Given the description of an element on the screen output the (x, y) to click on. 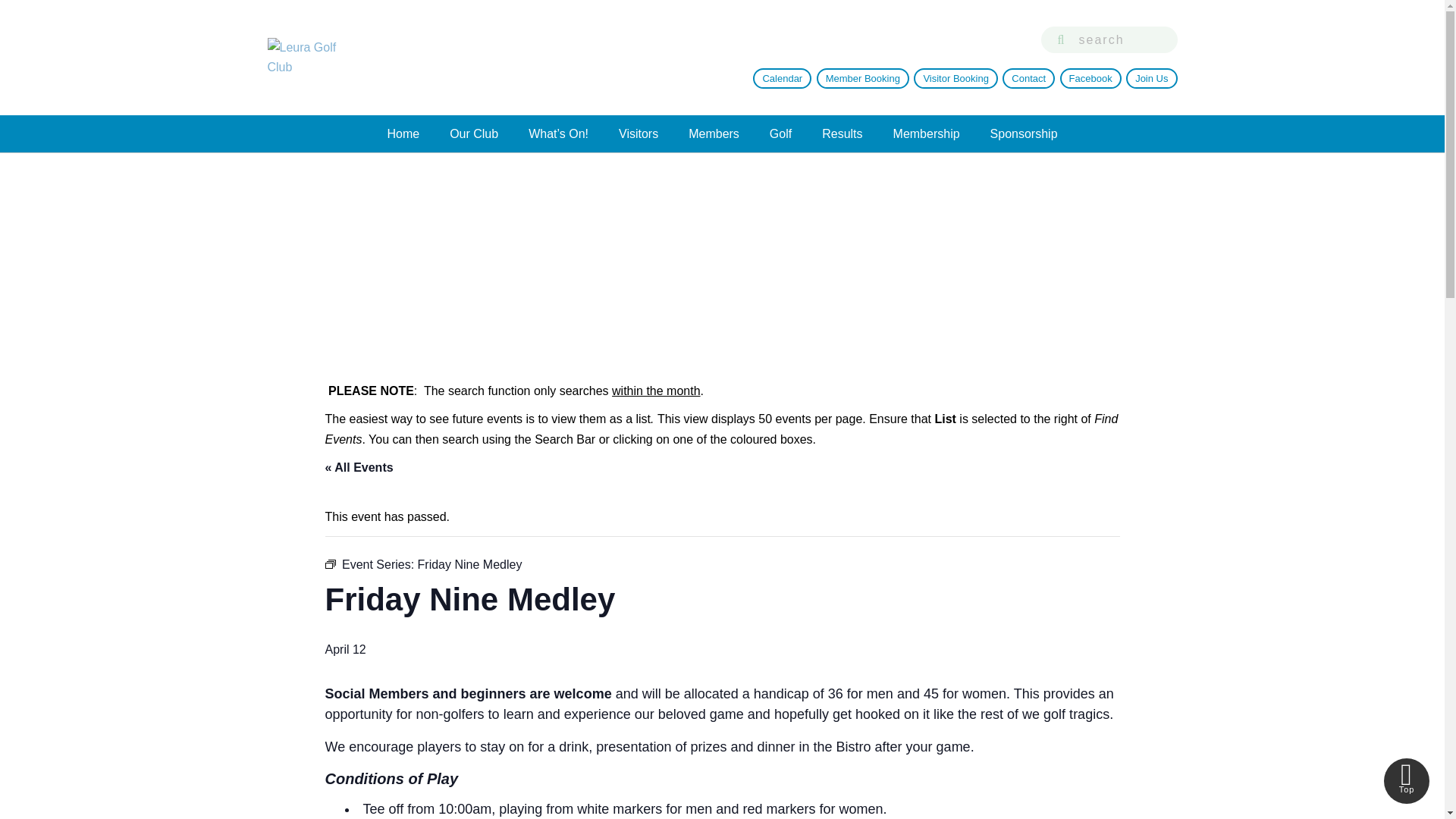
Visitor Booking (955, 77)
Join Us (1150, 77)
Golf (780, 133)
Visitors (638, 133)
Our Club (473, 133)
Home (402, 133)
Contact (1028, 77)
Calendar (781, 77)
Member Booking (862, 77)
Members (713, 133)
Facebook (1090, 77)
Event Series (329, 563)
